Given the description of an element on the screen output the (x, y) to click on. 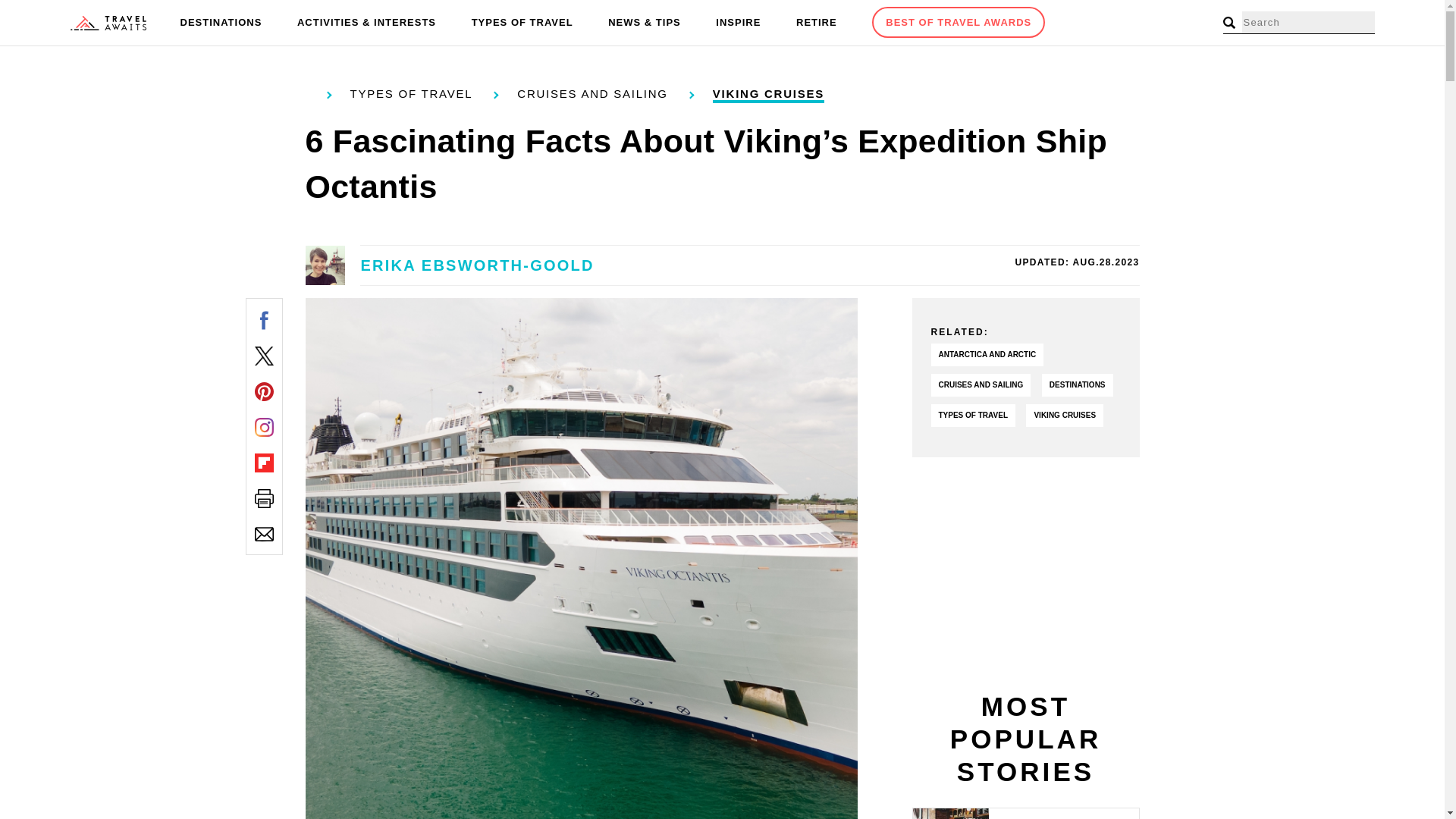
Pinterest (263, 391)
Twitter (263, 355)
Facebook (263, 320)
TYPES OF TRAVEL (522, 22)
Print (263, 497)
Instagram (263, 426)
Flipboard (263, 462)
DESTINATIONS (221, 22)
Email (263, 533)
TravelAwaits (107, 22)
